Given the description of an element on the screen output the (x, y) to click on. 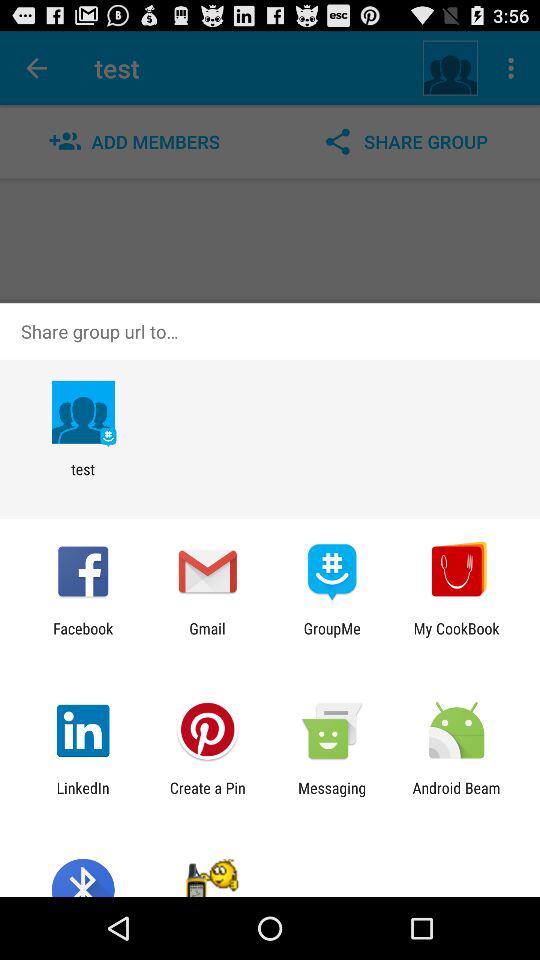
select app next to the create a pin (82, 796)
